Given the description of an element on the screen output the (x, y) to click on. 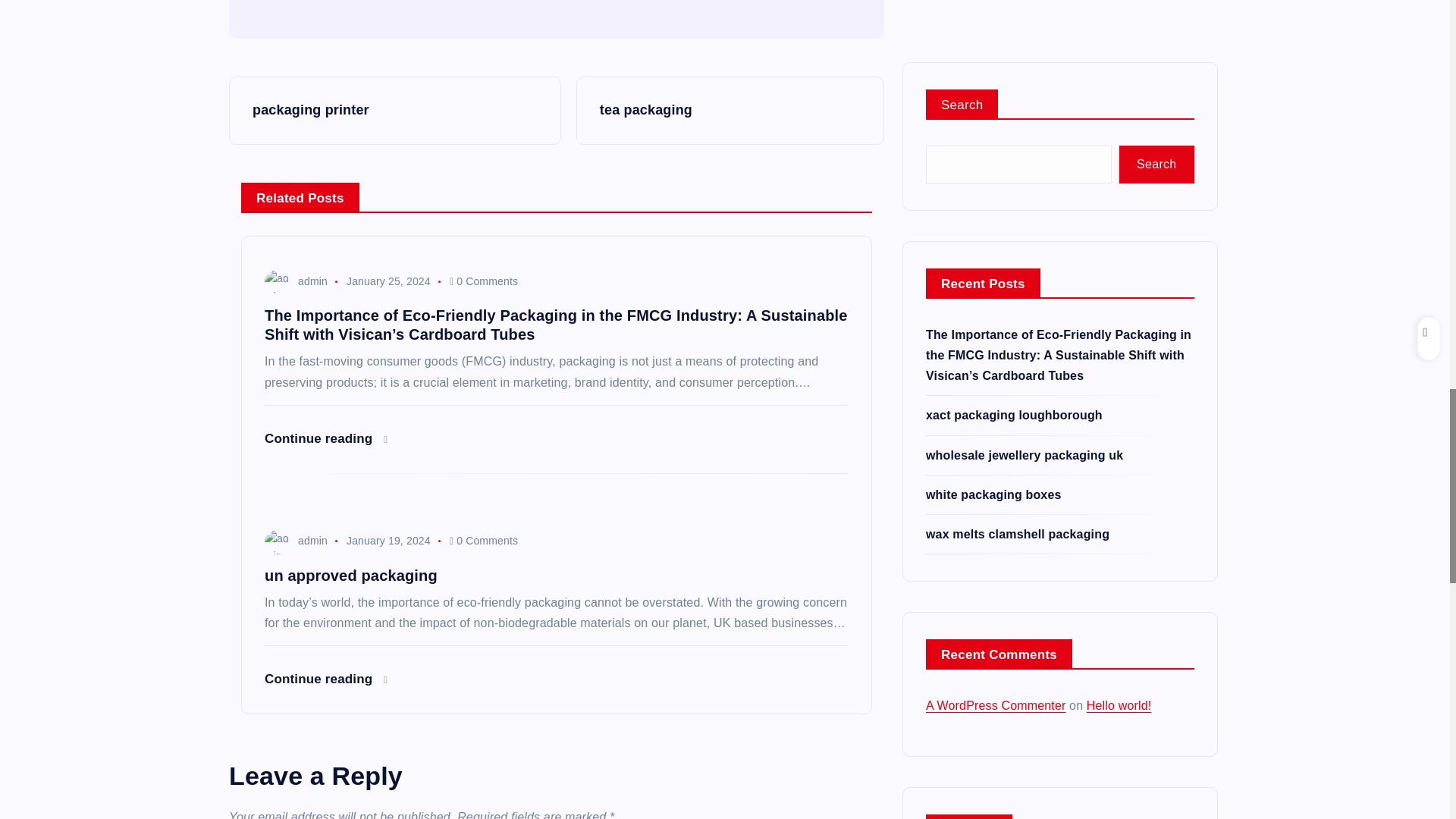
Continue reading (325, 678)
tea packaging (729, 110)
admin (295, 281)
packaging printer (394, 110)
admin (295, 540)
Continue reading (325, 438)
